Given the description of an element on the screen output the (x, y) to click on. 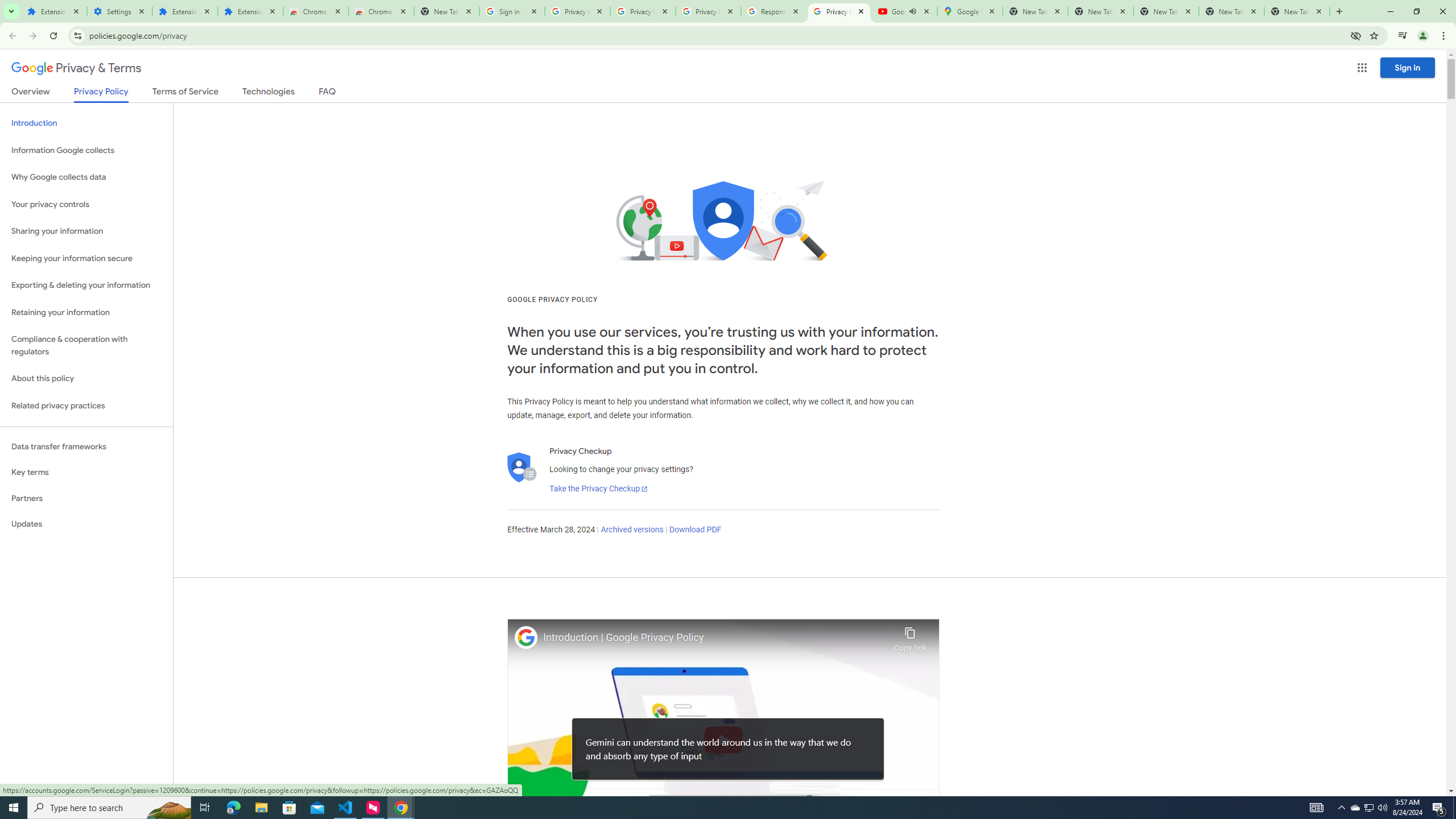
Data transfer frameworks (86, 446)
Take the Privacy Checkup (597, 488)
Related privacy practices (86, 405)
New Tab (446, 11)
Sharing your information (86, 230)
Compliance & cooperation with regulators (86, 345)
Privacy Policy (100, 94)
Google Maps (969, 11)
Control your music, videos, and more (1402, 35)
